Given the description of an element on the screen output the (x, y) to click on. 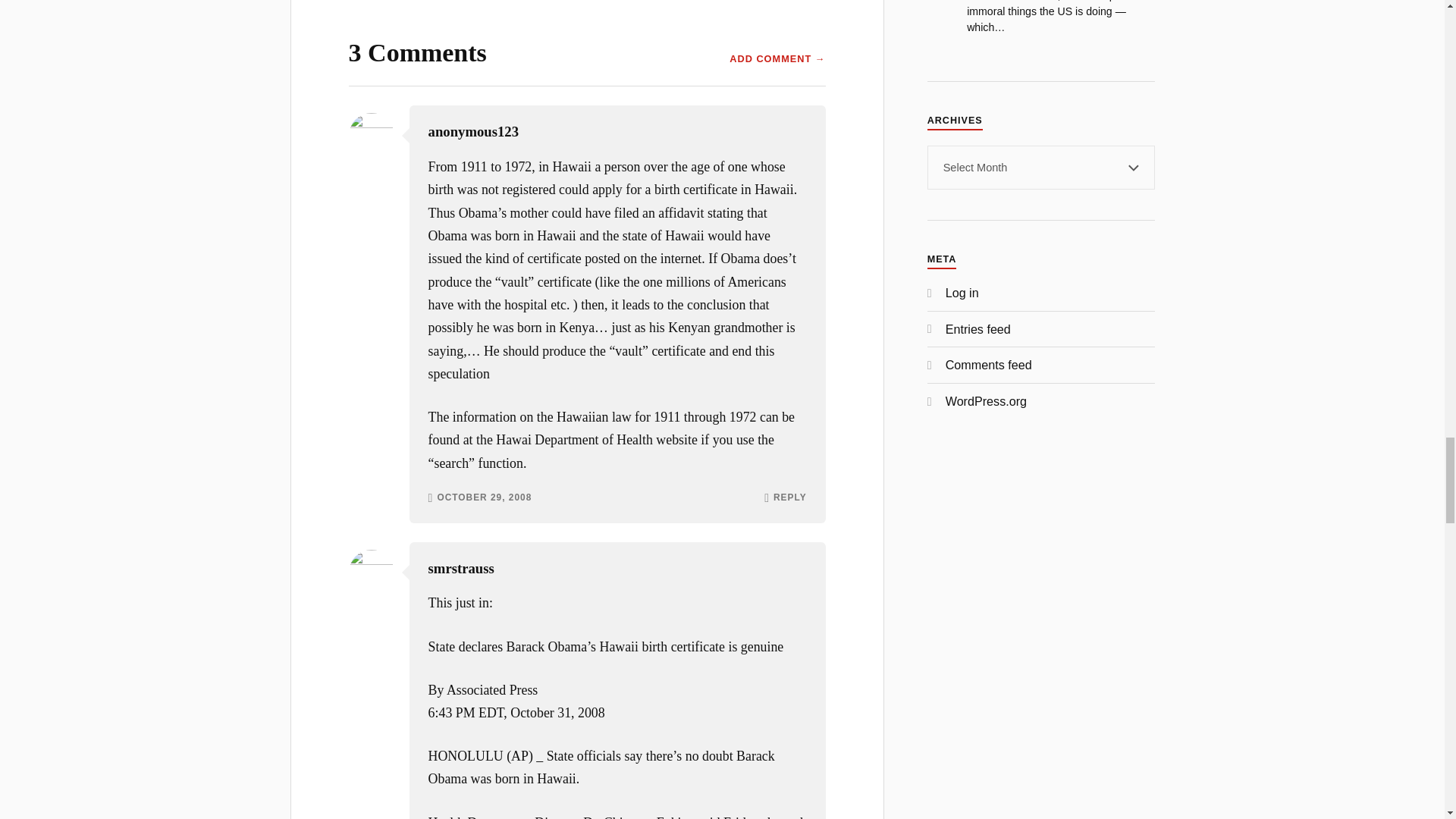
REPLY (789, 497)
OCTOBER 29, 2008 (483, 497)
